Given the description of an element on the screen output the (x, y) to click on. 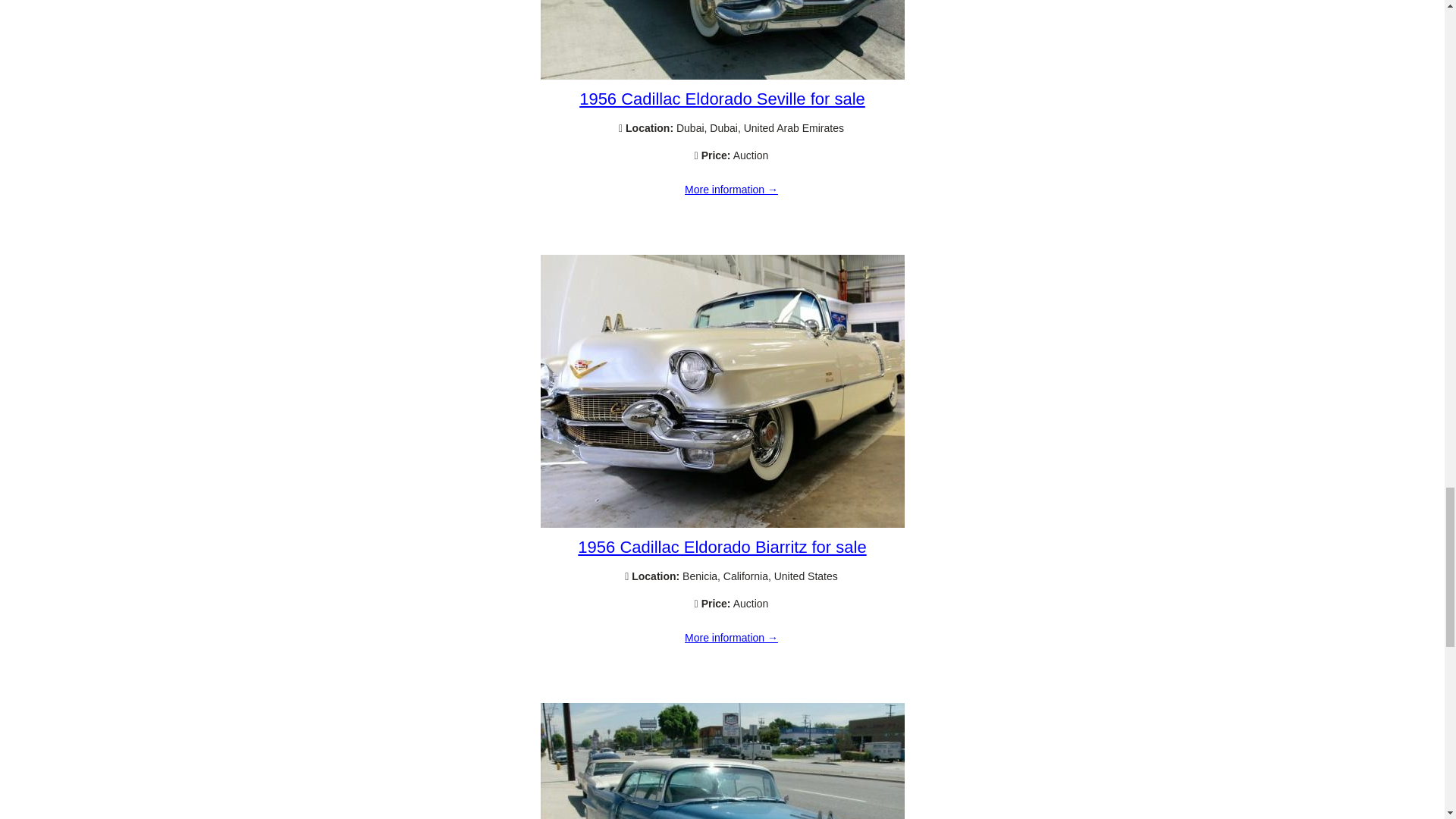
1956 Cadillac Eldorado Biarritz for sale (731, 638)
1956 Cadillac Eldorado Seville for sale (731, 190)
1956 Cadillac Eldorado Seville for sale (722, 75)
1956 Cadillac Eldorado Biarritz for sale (722, 523)
1956 Cadillac Eldorado Seville for sale (721, 98)
1956 Cadillac Eldorado Biarritz for sale (722, 546)
